Given the description of an element on the screen output the (x, y) to click on. 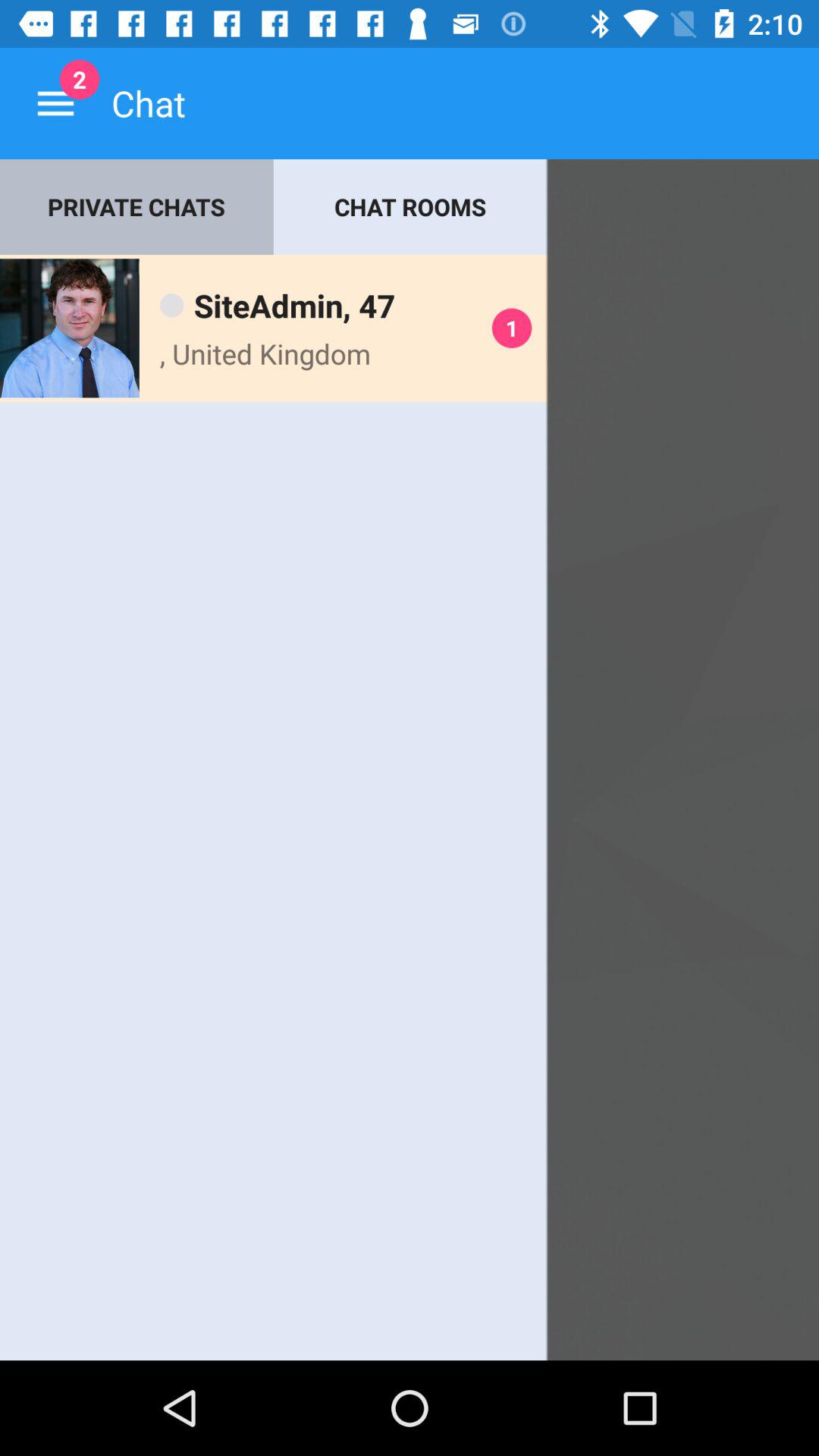
launch item to the left of the chat icon (55, 103)
